Given the description of an element on the screen output the (x, y) to click on. 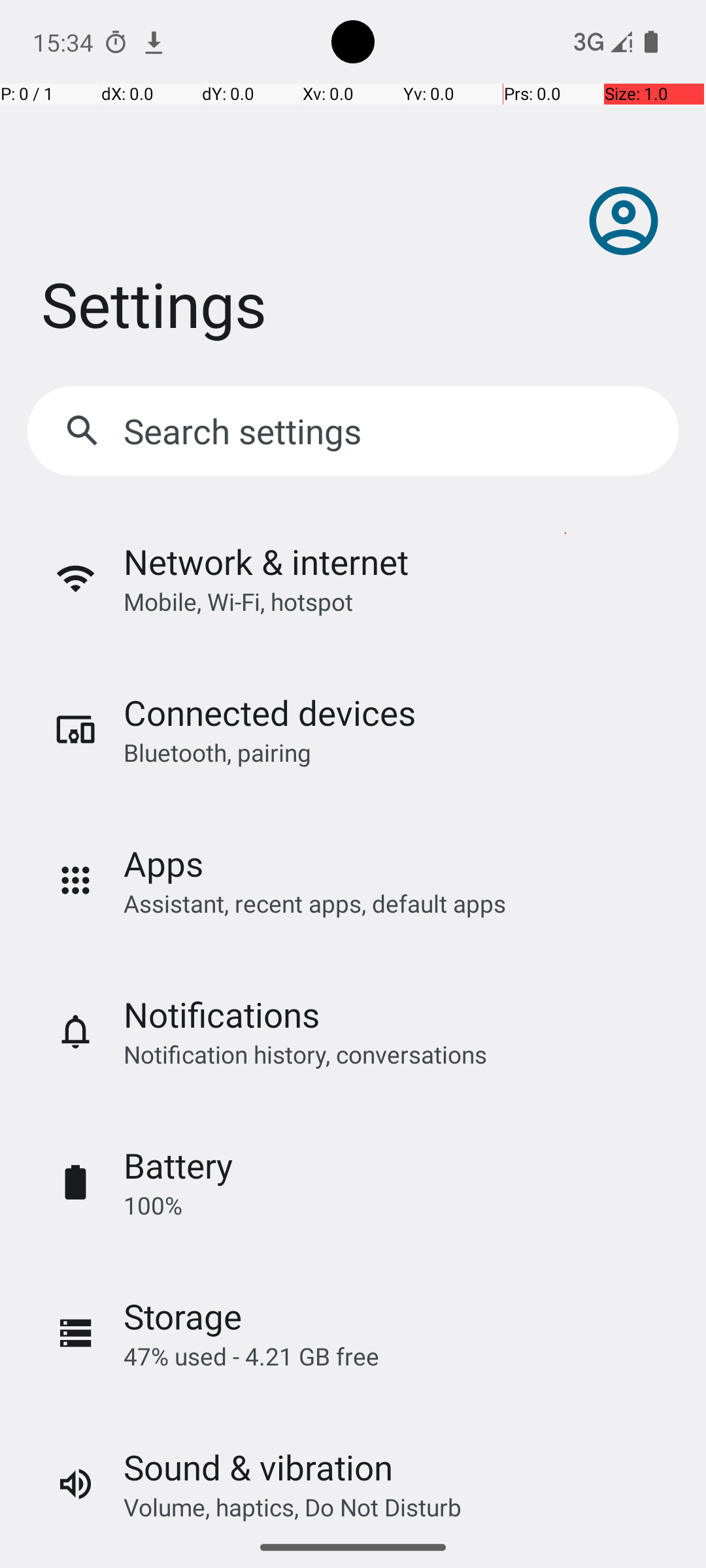
47% used - 4.21 GB free Element type: android.widget.TextView (251, 1355)
